Given the description of an element on the screen output the (x, y) to click on. 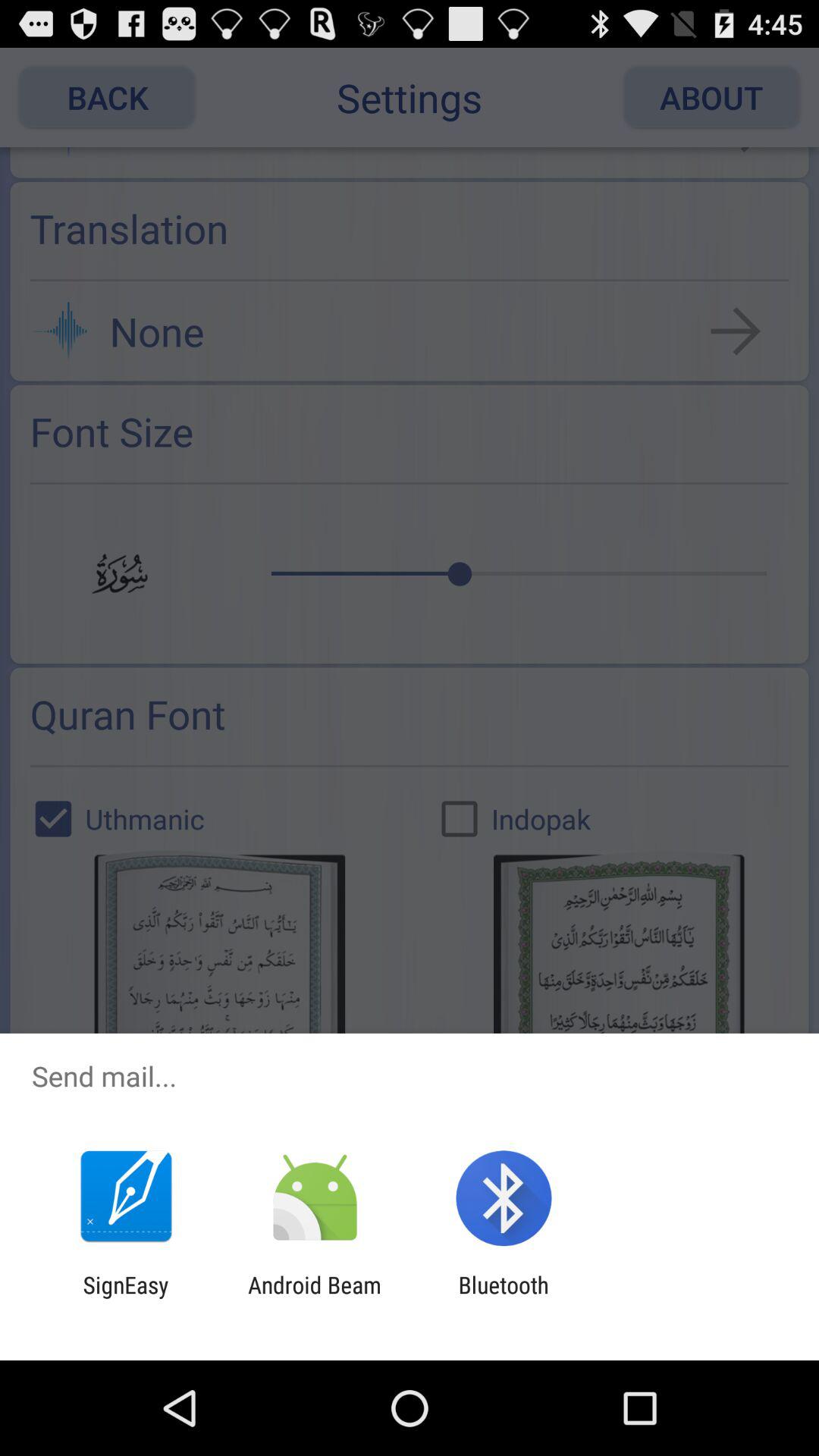
turn off app to the left of bluetooth app (314, 1298)
